Given the description of an element on the screen output the (x, y) to click on. 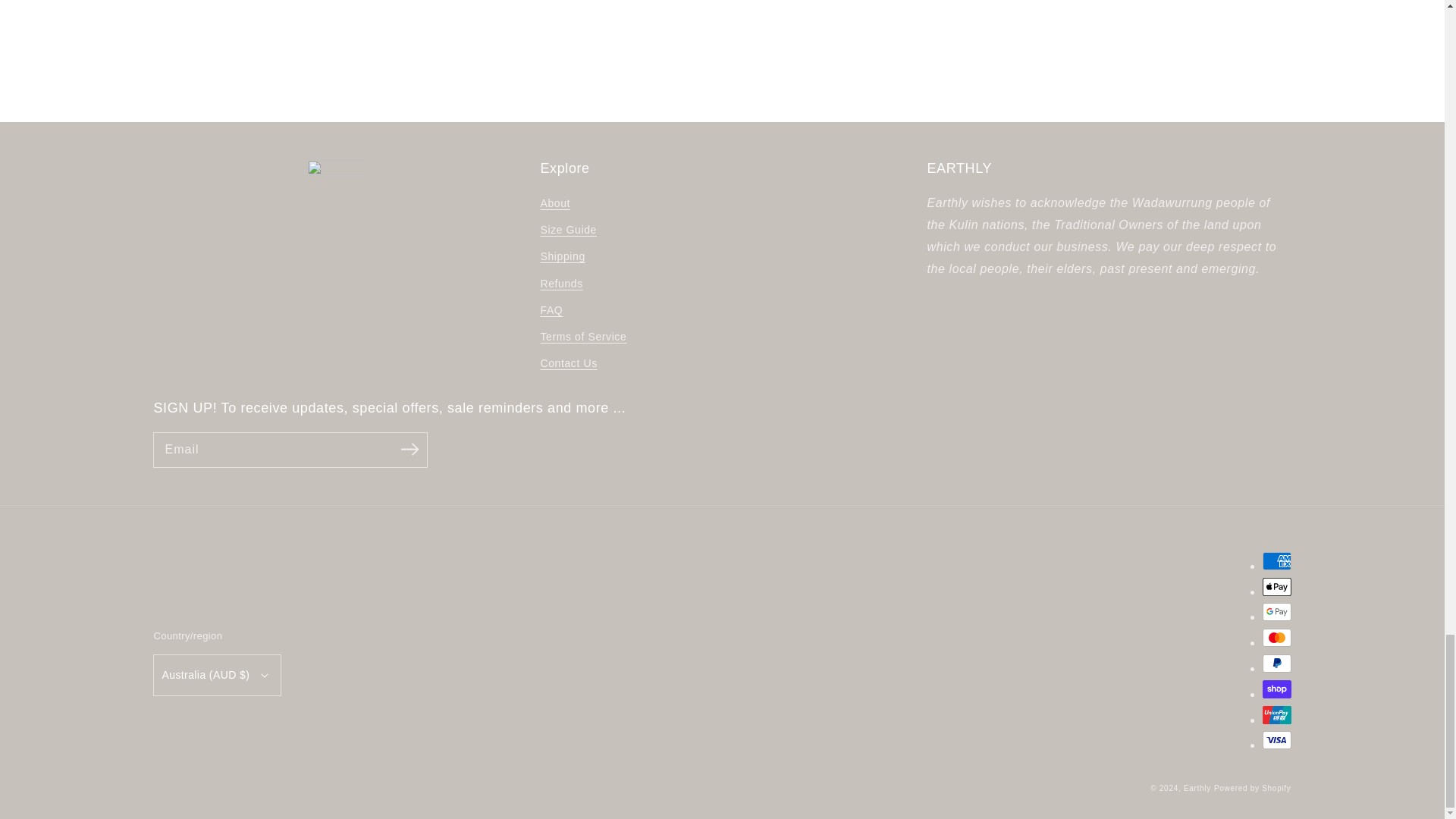
Mastercard (1276, 637)
PayPal (1276, 663)
Google Pay (1276, 611)
Union Pay (1276, 714)
American Express (1276, 561)
Shop Pay (1276, 689)
Apple Pay (1276, 587)
Visa (1276, 740)
